Given the description of an element on the screen output the (x, y) to click on. 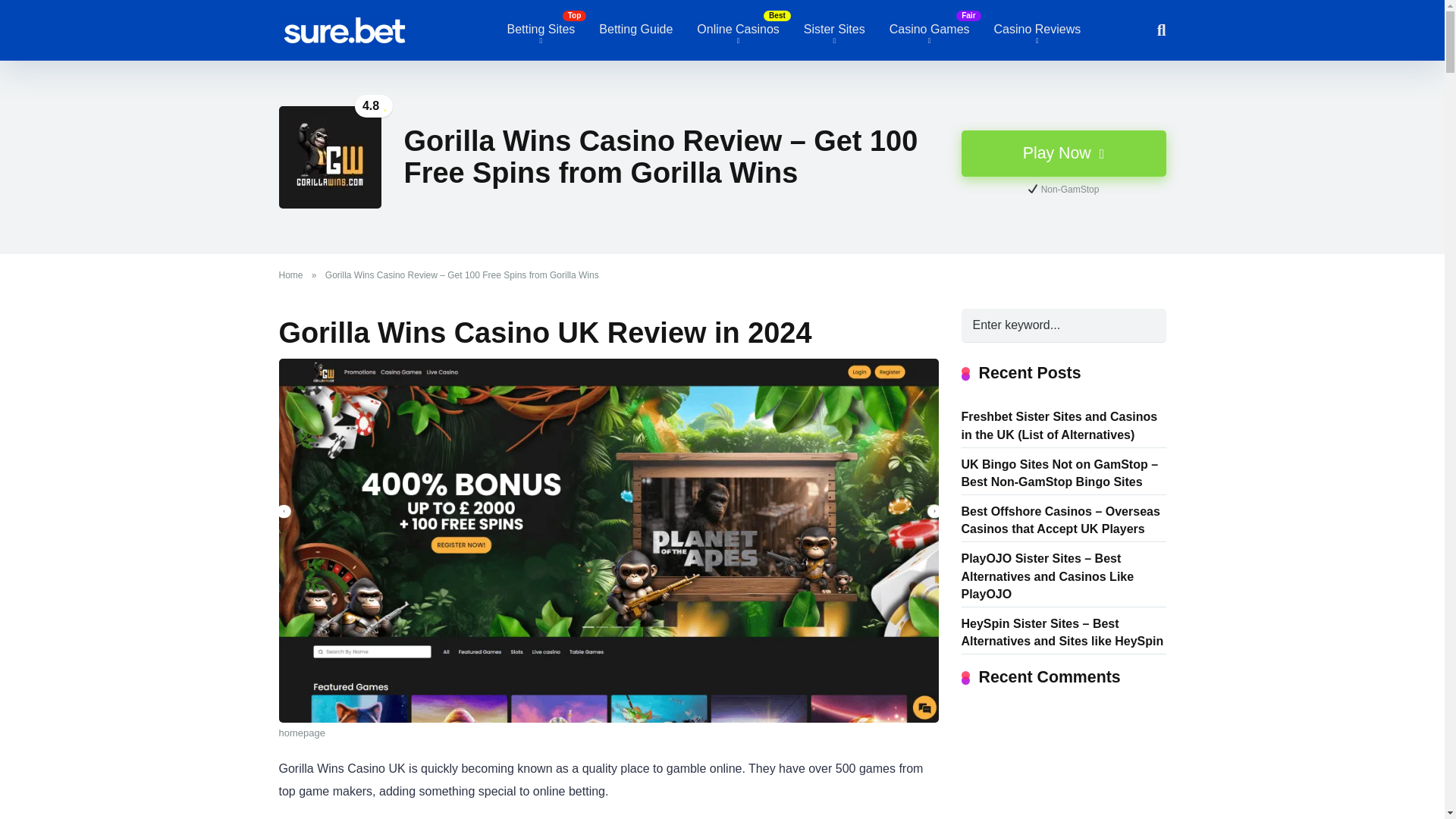
Casino Reviews (1037, 30)
Casino Games (929, 30)
Betting Sites (540, 30)
Sure.bet (344, 24)
Play Now (1063, 153)
Betting Guide (635, 30)
Online Casinos (738, 30)
Sister Sites (834, 30)
